Given the description of an element on the screen output the (x, y) to click on. 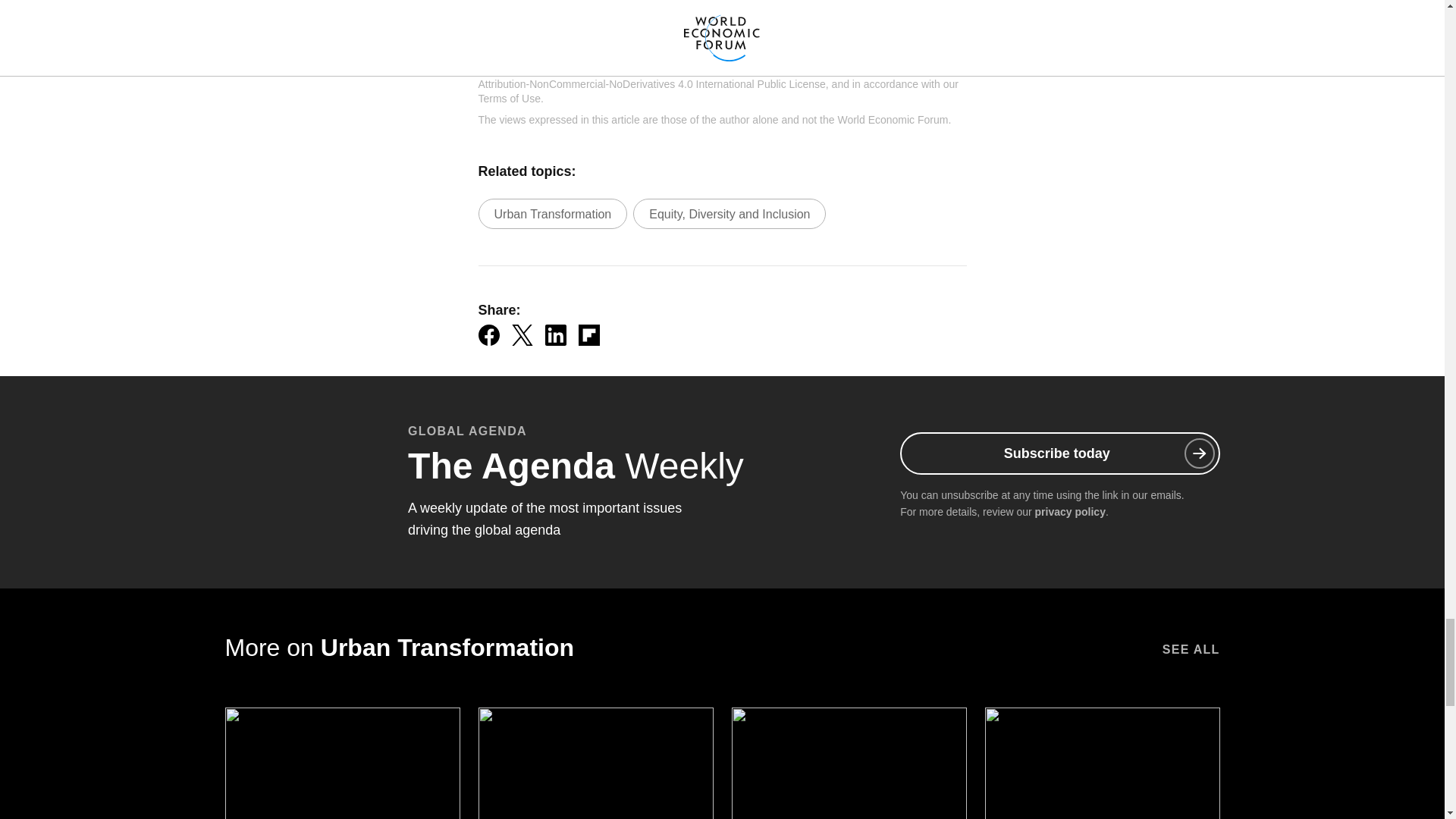
Equity, Diversity and Inclusion (729, 214)
Urban Transformation (552, 214)
